Given the description of an element on the screen output the (x, y) to click on. 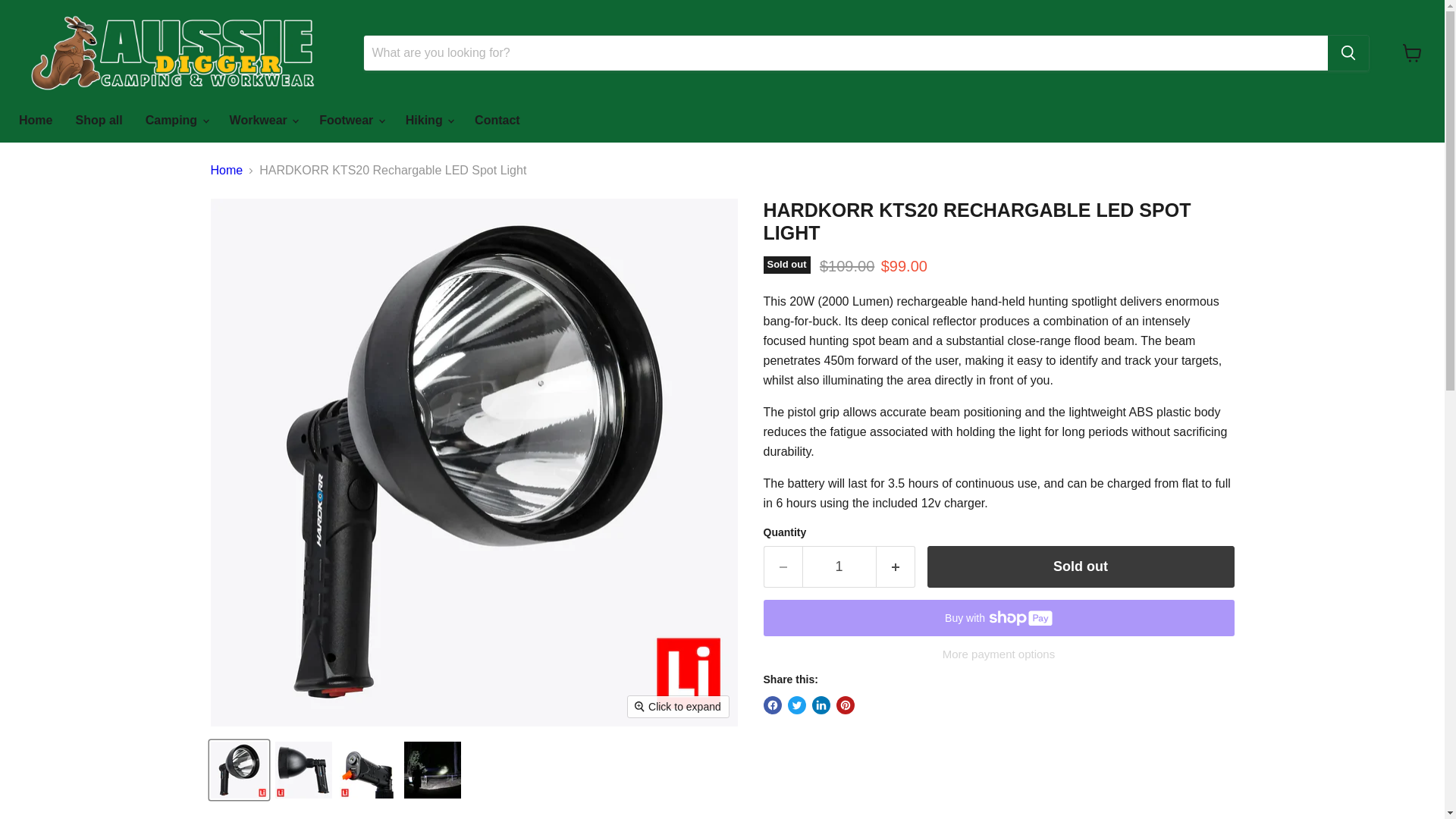
Shop all (98, 120)
1 (839, 567)
View cart (1411, 52)
Home (35, 120)
